Given the description of an element on the screen output the (x, y) to click on. 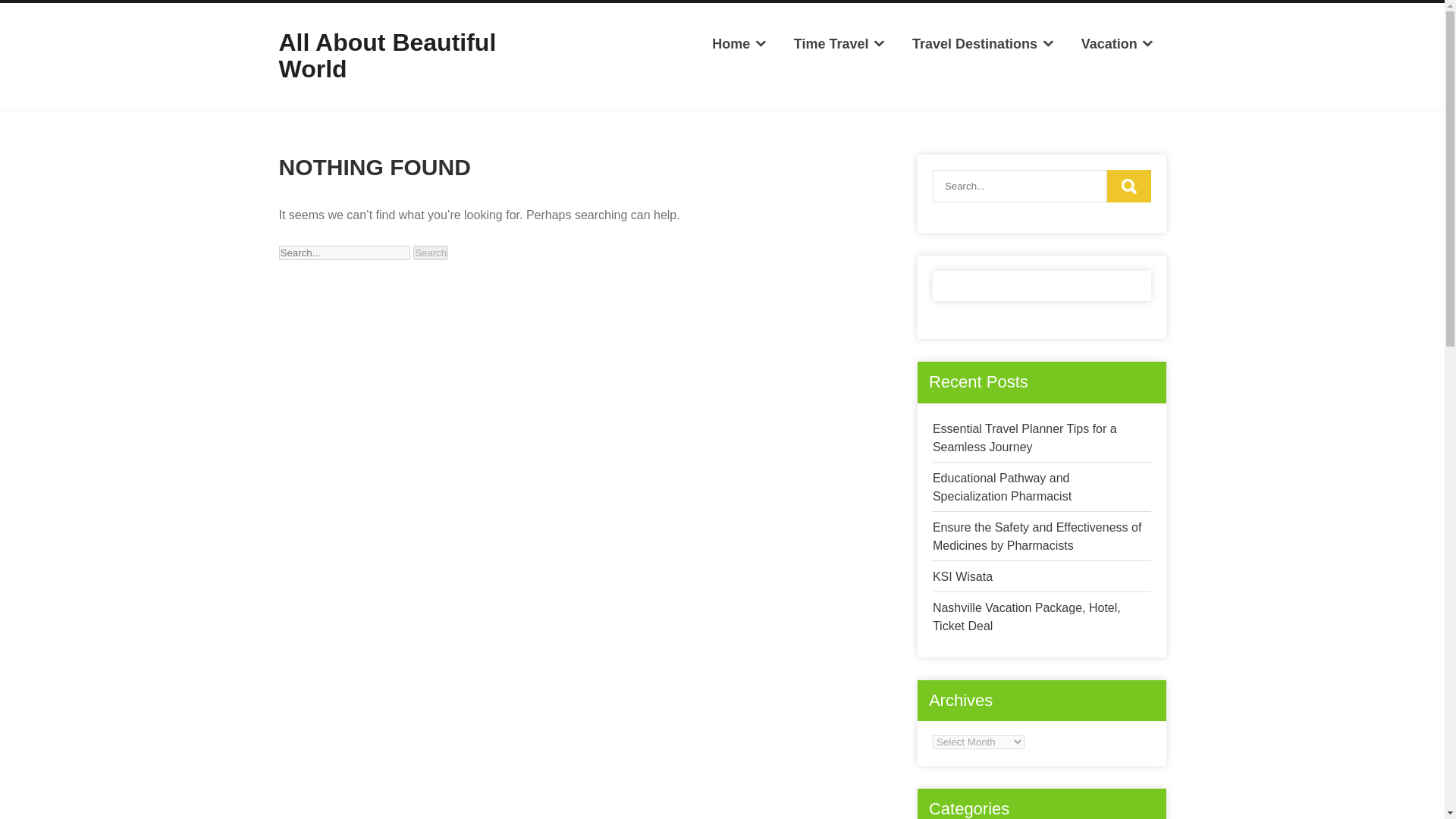
Home (739, 44)
Essential Travel Planner Tips for a Seamless Journey (1024, 437)
Search (1128, 185)
Educational Pathway and Specialization Pharmacist (1002, 486)
Time Travel (838, 44)
KSI Wisata (962, 576)
Search (430, 252)
Search (430, 252)
Search (430, 252)
Search (1128, 185)
